Given the description of an element on the screen output the (x, y) to click on. 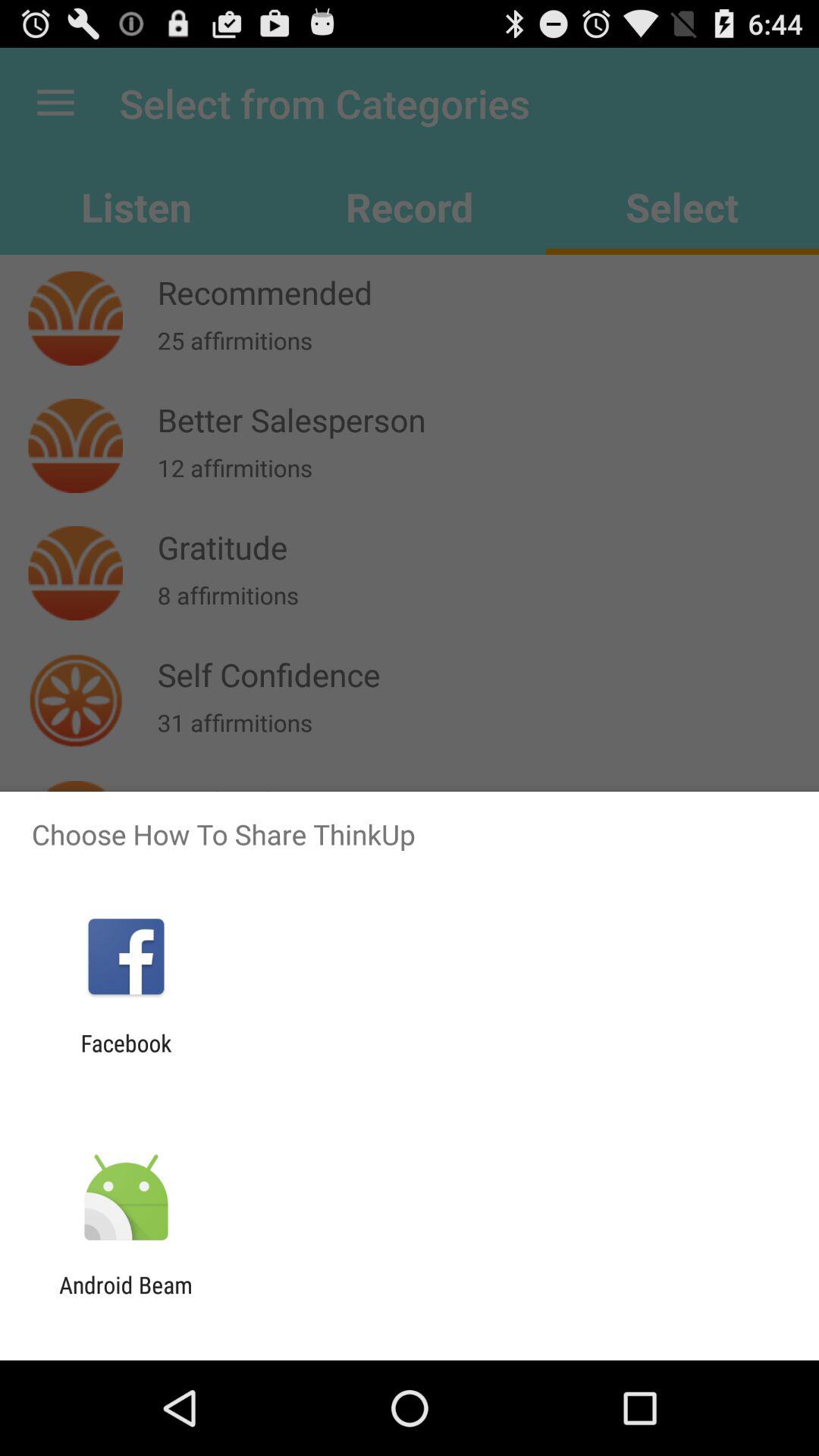
turn on facebook (125, 1056)
